Given the description of an element on the screen output the (x, y) to click on. 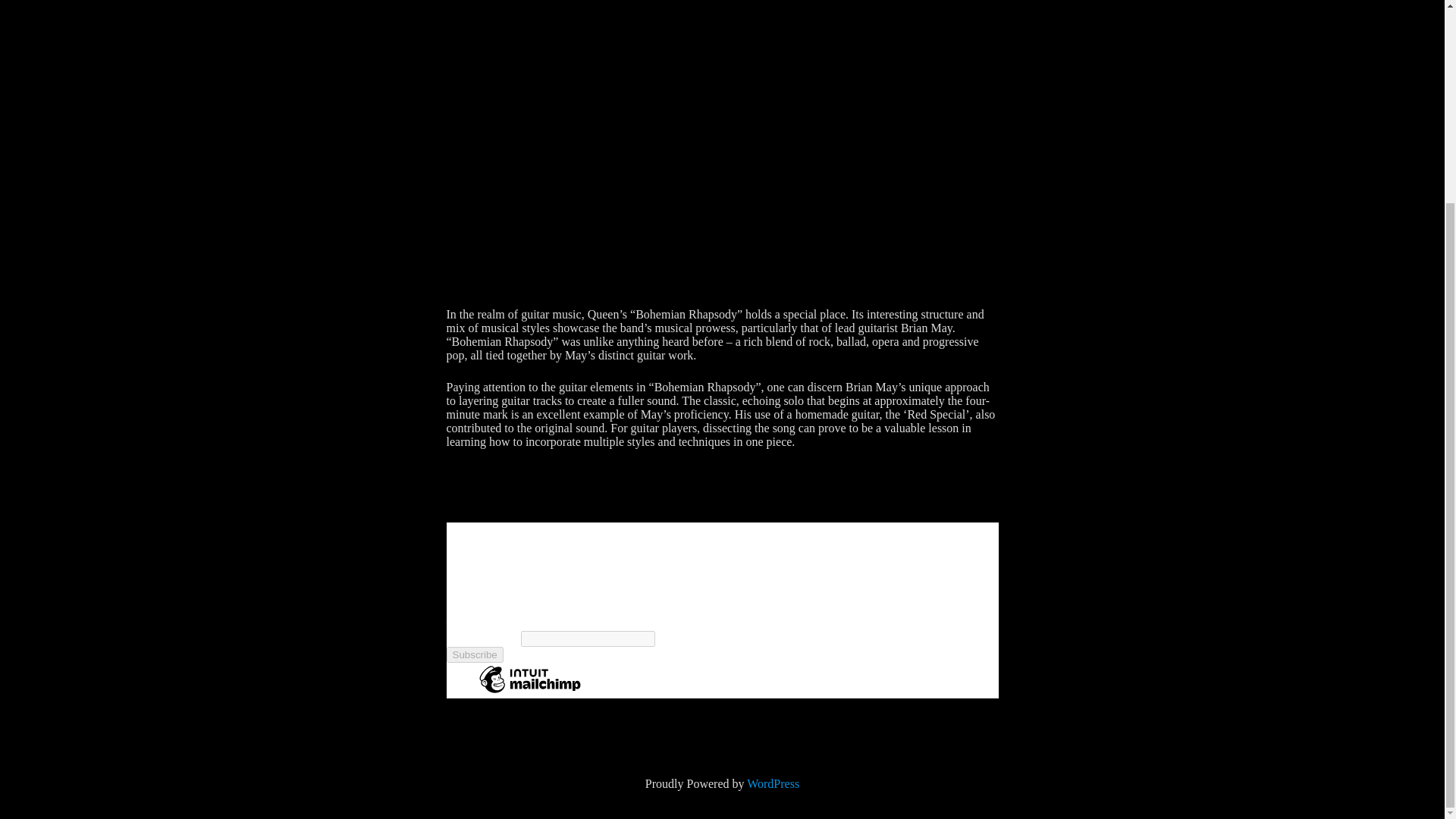
Mailchimp - email marketing made easy and fun (528, 692)
WordPress (772, 783)
Subscribe (473, 654)
Subscribe (473, 654)
